Given the description of an element on the screen output the (x, y) to click on. 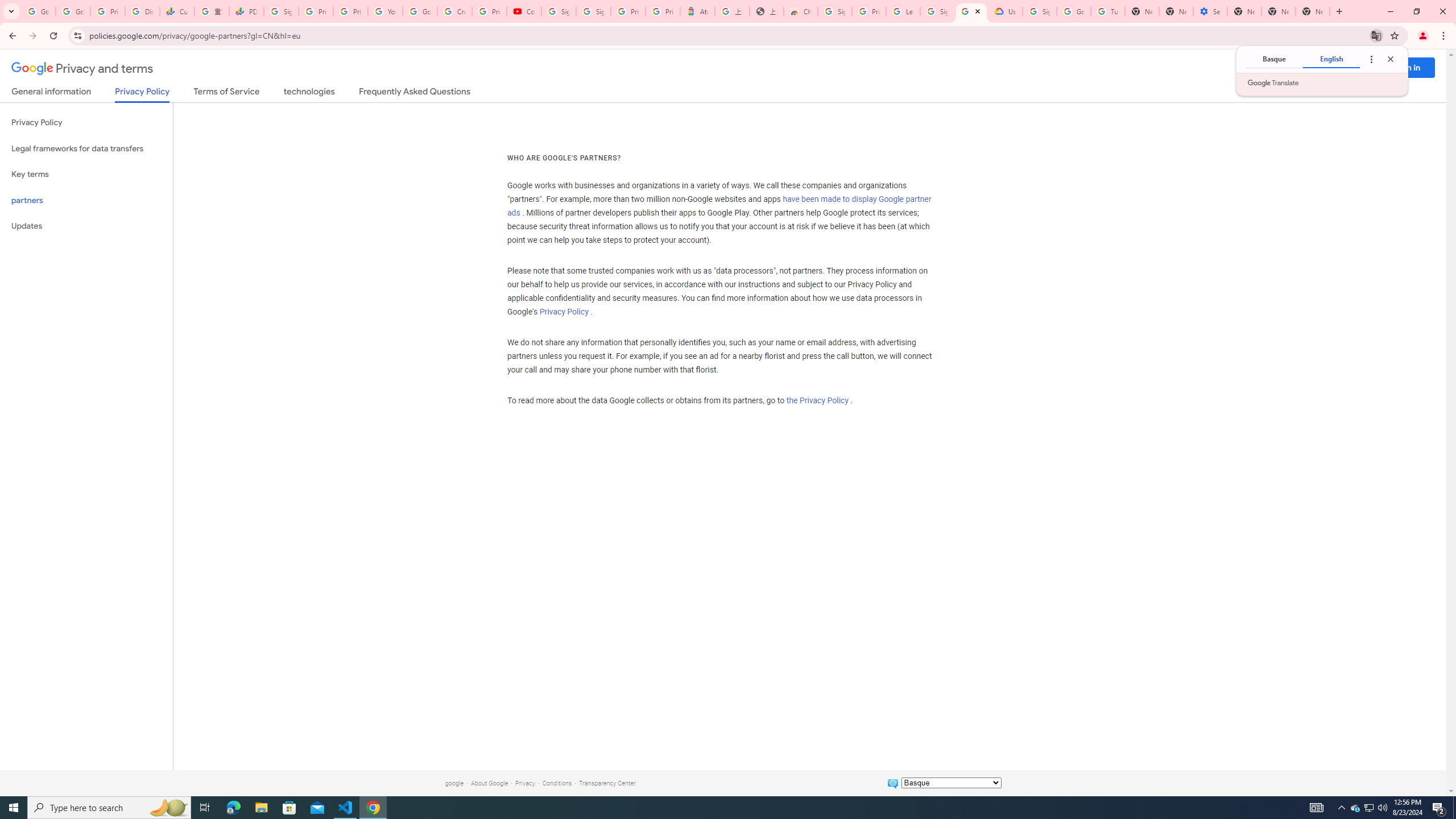
Start (13, 807)
Chrome Web Store - Color themes by Chrome (800, 11)
General information (51, 93)
New Tab (1243, 11)
English (1368, 807)
Currencies - Google Finance (1331, 58)
Google Chrome - 1 running window (176, 11)
Basque (373, 807)
google (1273, 58)
